Given the description of an element on the screen output the (x, y) to click on. 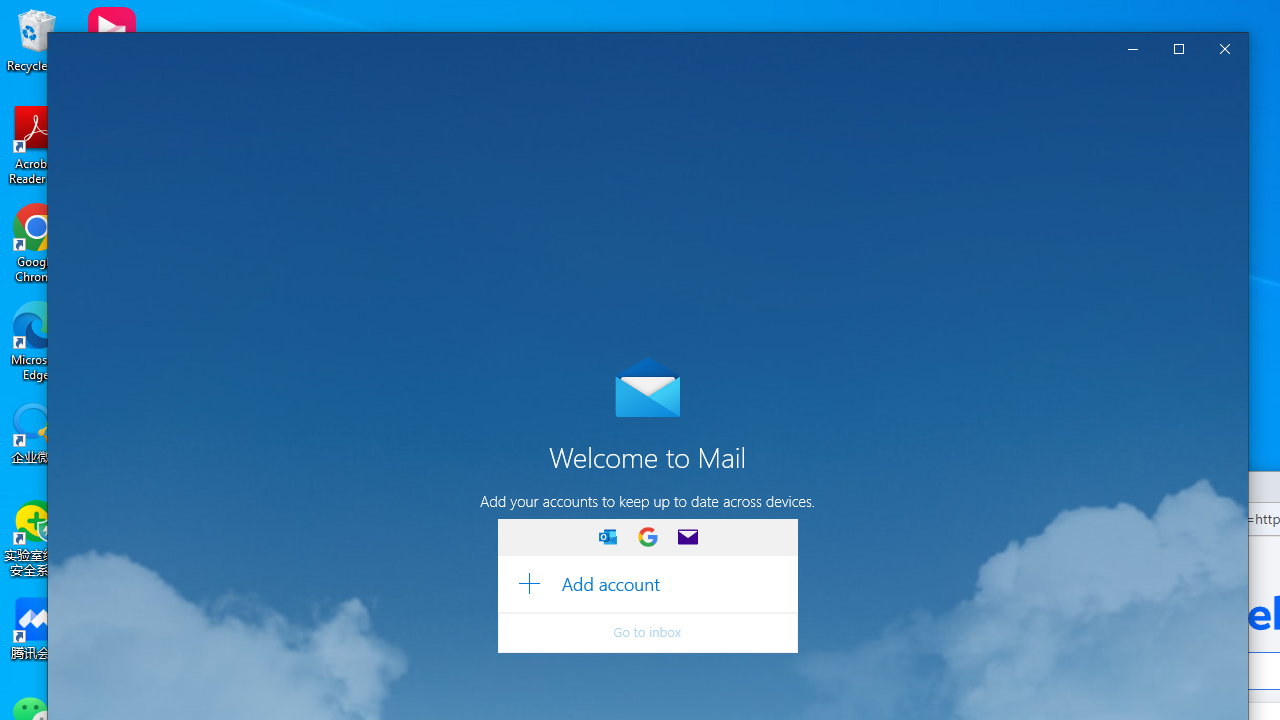
Filter, All (655, 193)
Folders (178, 314)
Outlook, EugeneLedger601@outlook.com (178, 250)
In 2024 Outlook is replacing Windows Mail and Calendar. (778, 84)
